Given the description of an element on the screen output the (x, y) to click on. 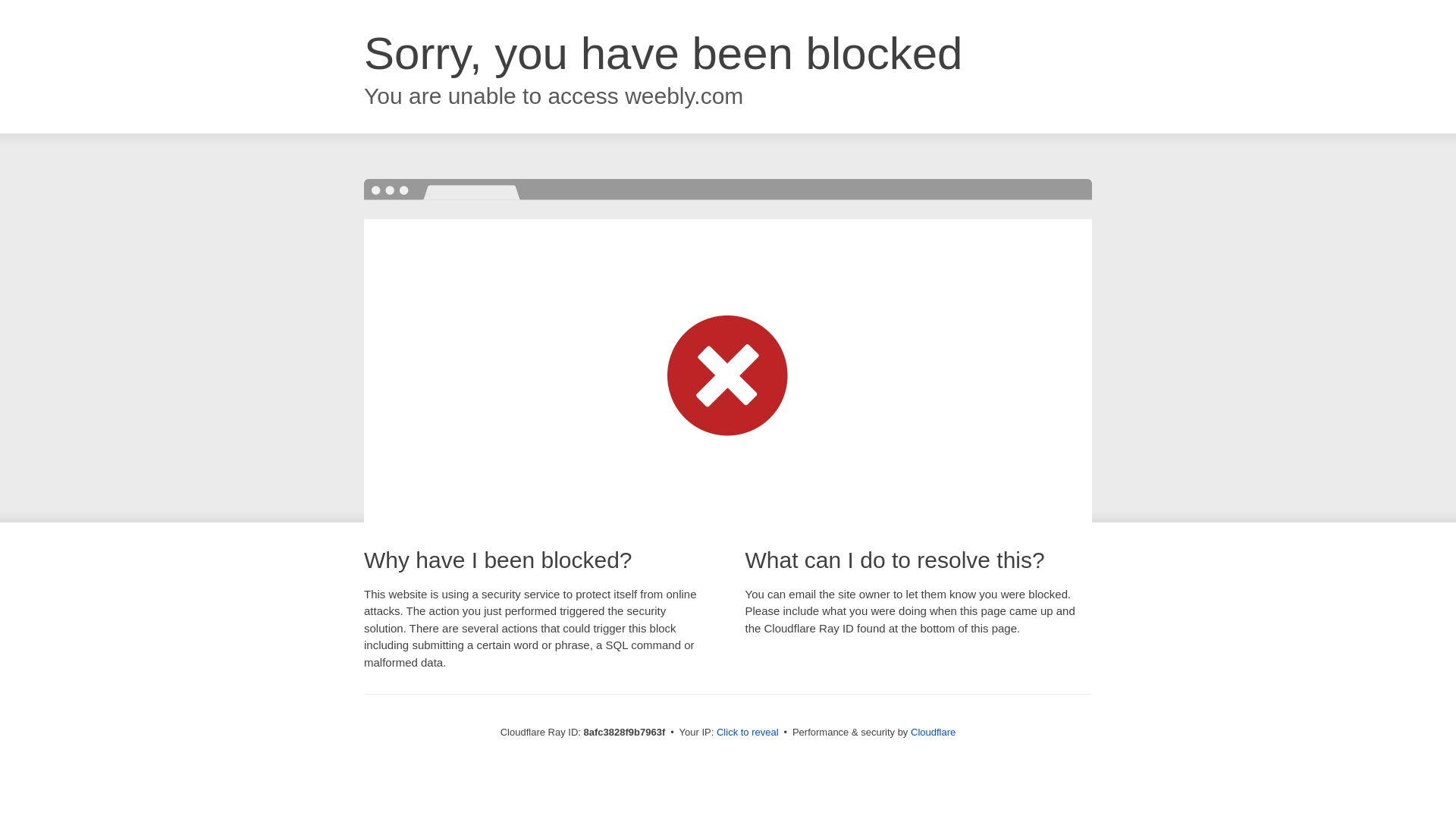
Cloudflare (933, 731)
Click to reveal (747, 732)
